Given the description of an element on the screen output the (x, y) to click on. 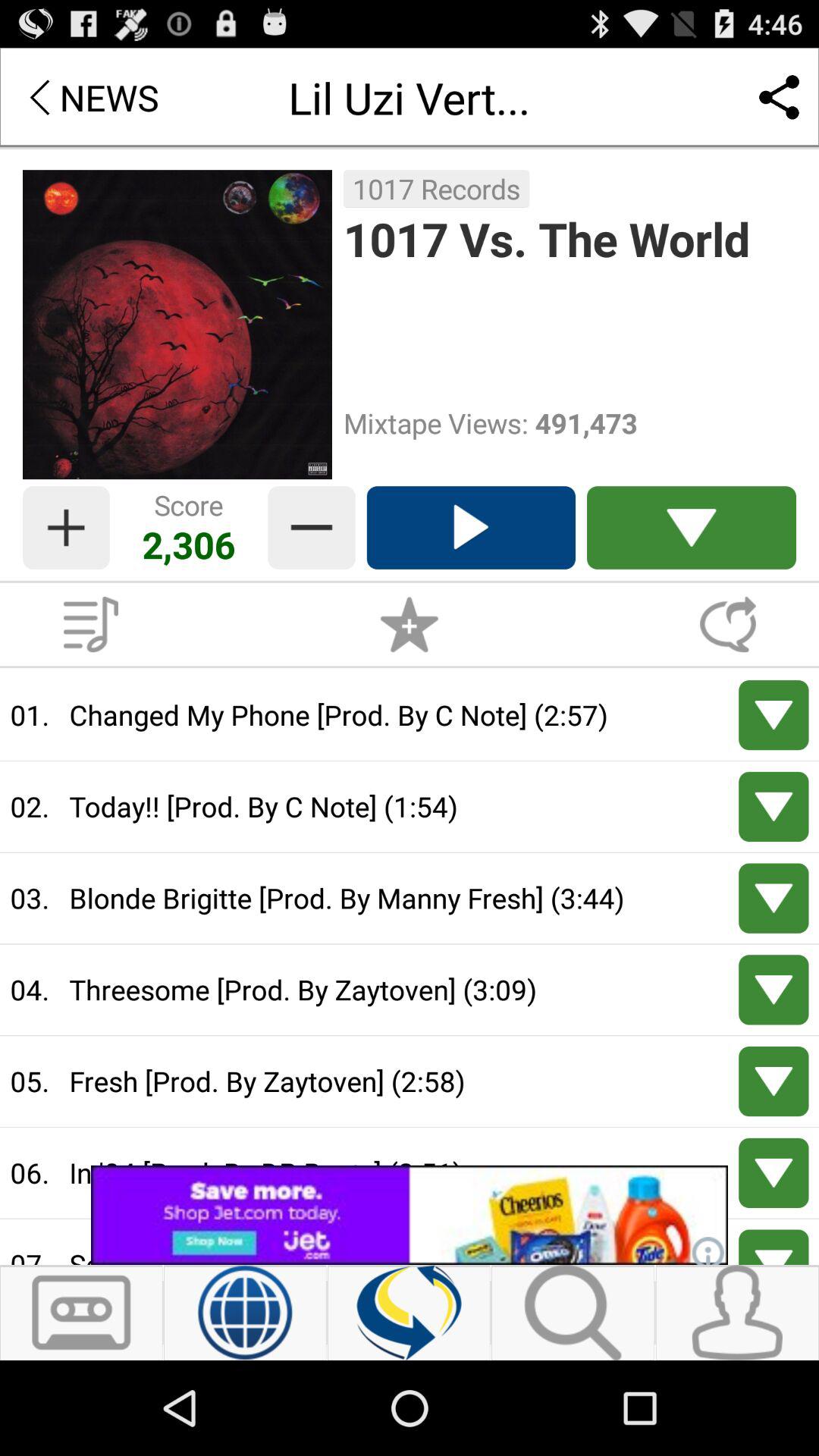
share the article (409, 1214)
